Given the description of an element on the screen output the (x, y) to click on. 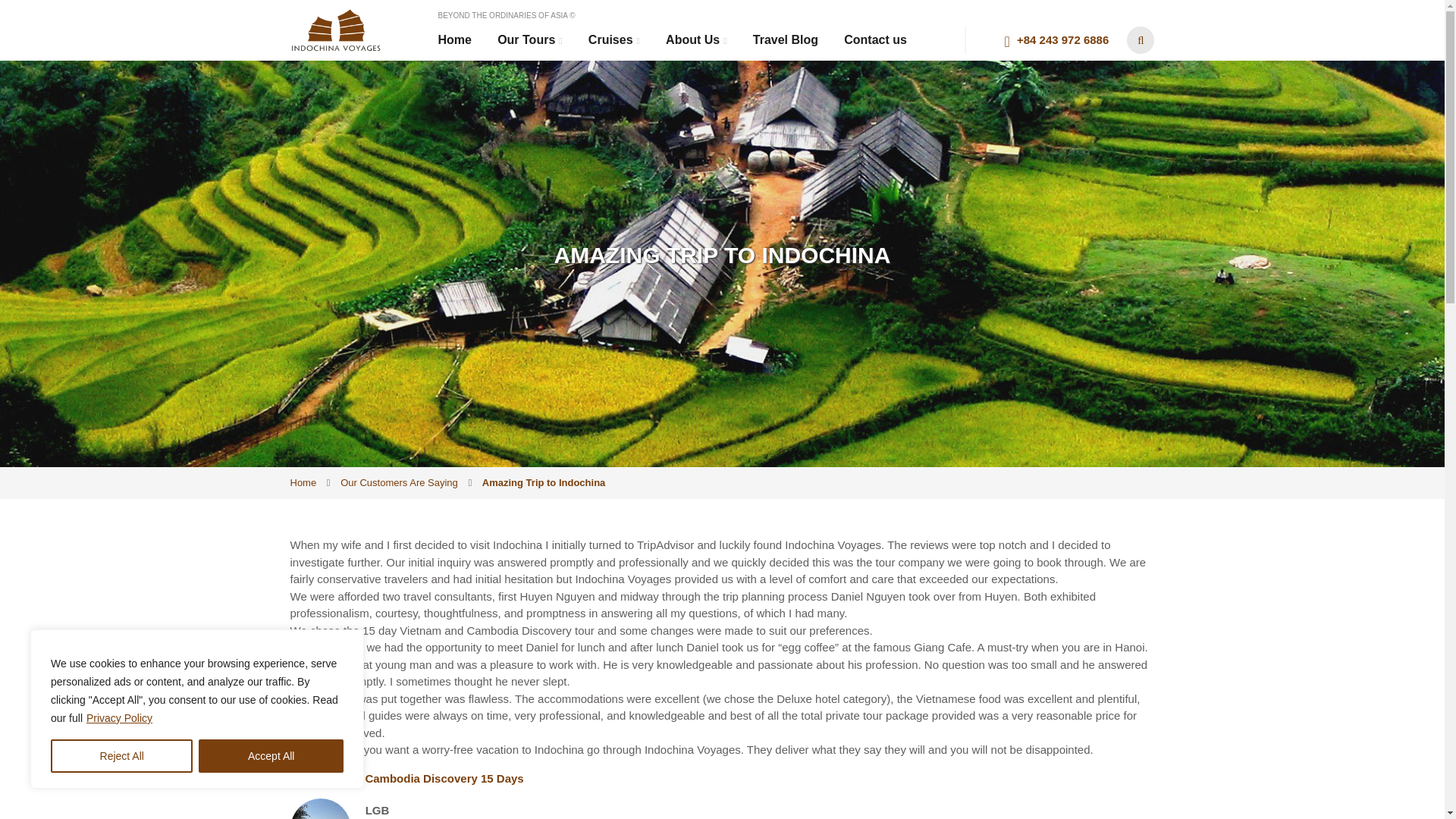
Our Customers Are Saying (399, 482)
Travel Blog (785, 39)
Contact us (875, 39)
Home (302, 482)
Indochina Voyages (334, 29)
Our Tours (529, 40)
Reject All (121, 756)
Privacy Policy (118, 717)
Cruises (614, 40)
About Us (695, 40)
